Given the description of an element on the screen output the (x, y) to click on. 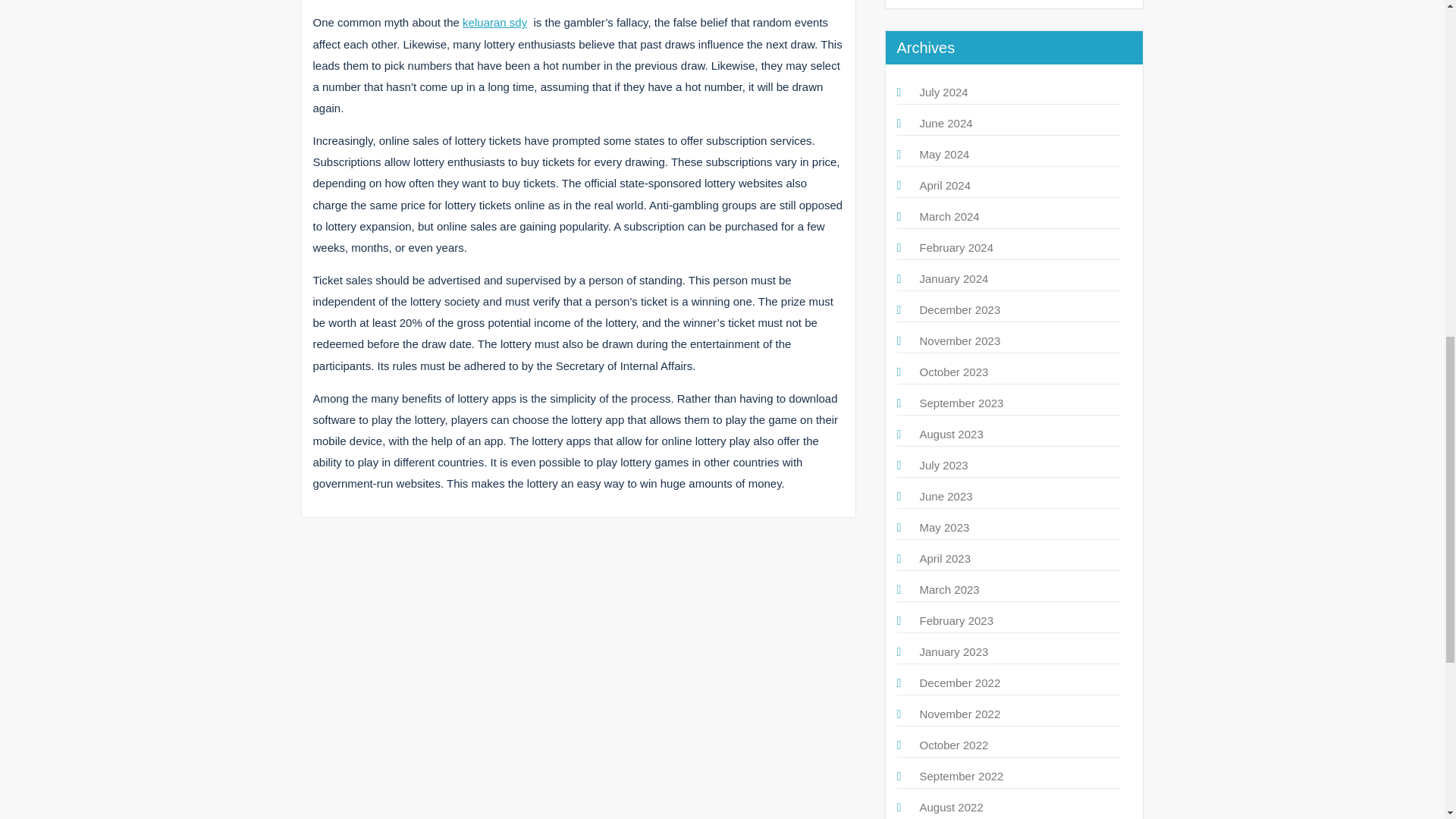
August 2023 (950, 433)
January 2023 (953, 651)
February 2023 (955, 620)
April 2023 (944, 558)
December 2022 (959, 682)
June 2024 (945, 123)
May 2024 (943, 154)
May 2023 (943, 526)
January 2024 (953, 278)
November 2023 (959, 340)
keluaran sdy (495, 21)
March 2023 (948, 589)
February 2024 (955, 246)
July 2023 (943, 464)
November 2022 (959, 713)
